Given the description of an element on the screen output the (x, y) to click on. 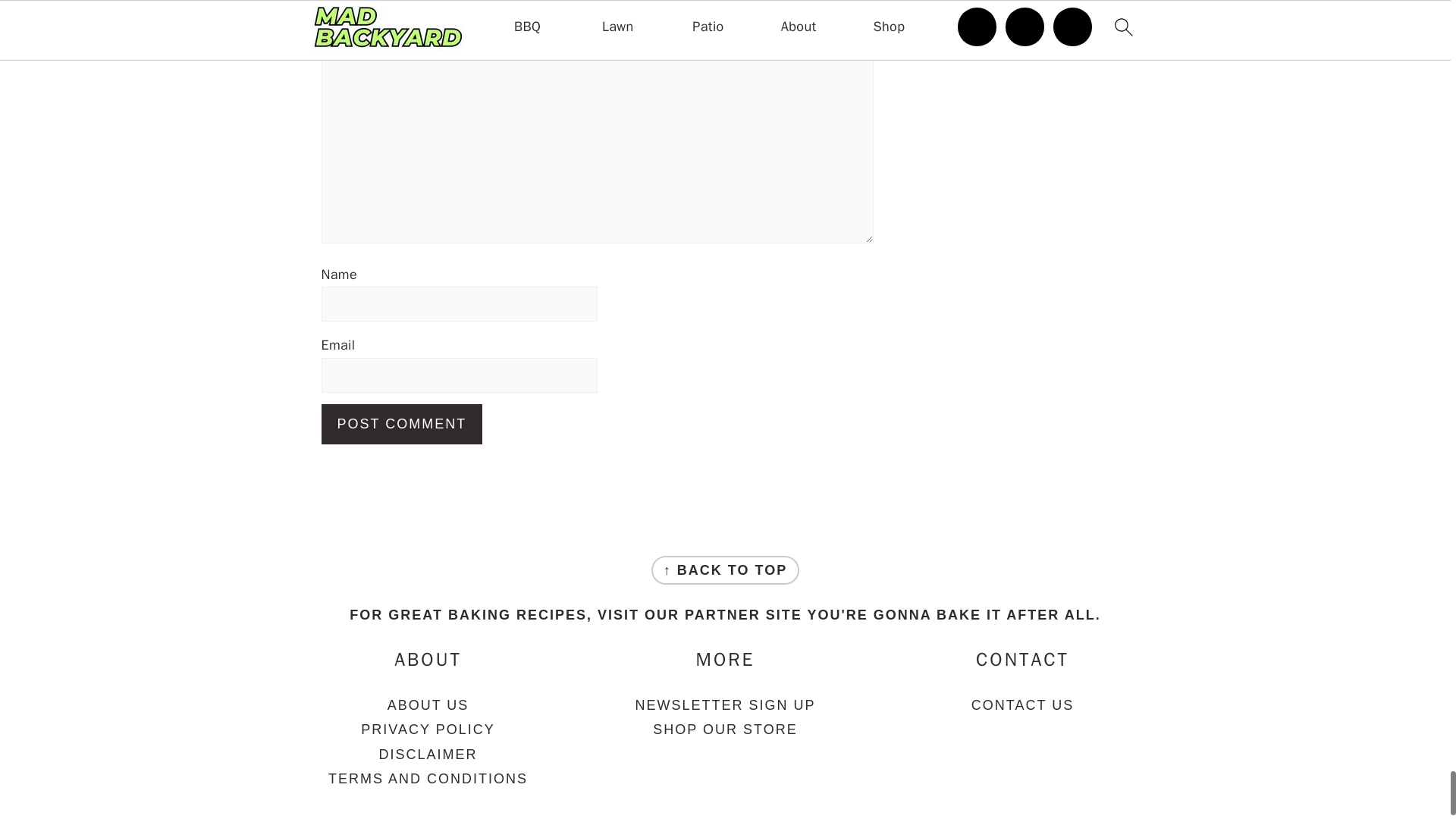
Post Comment (402, 424)
